Given the description of an element on the screen output the (x, y) to click on. 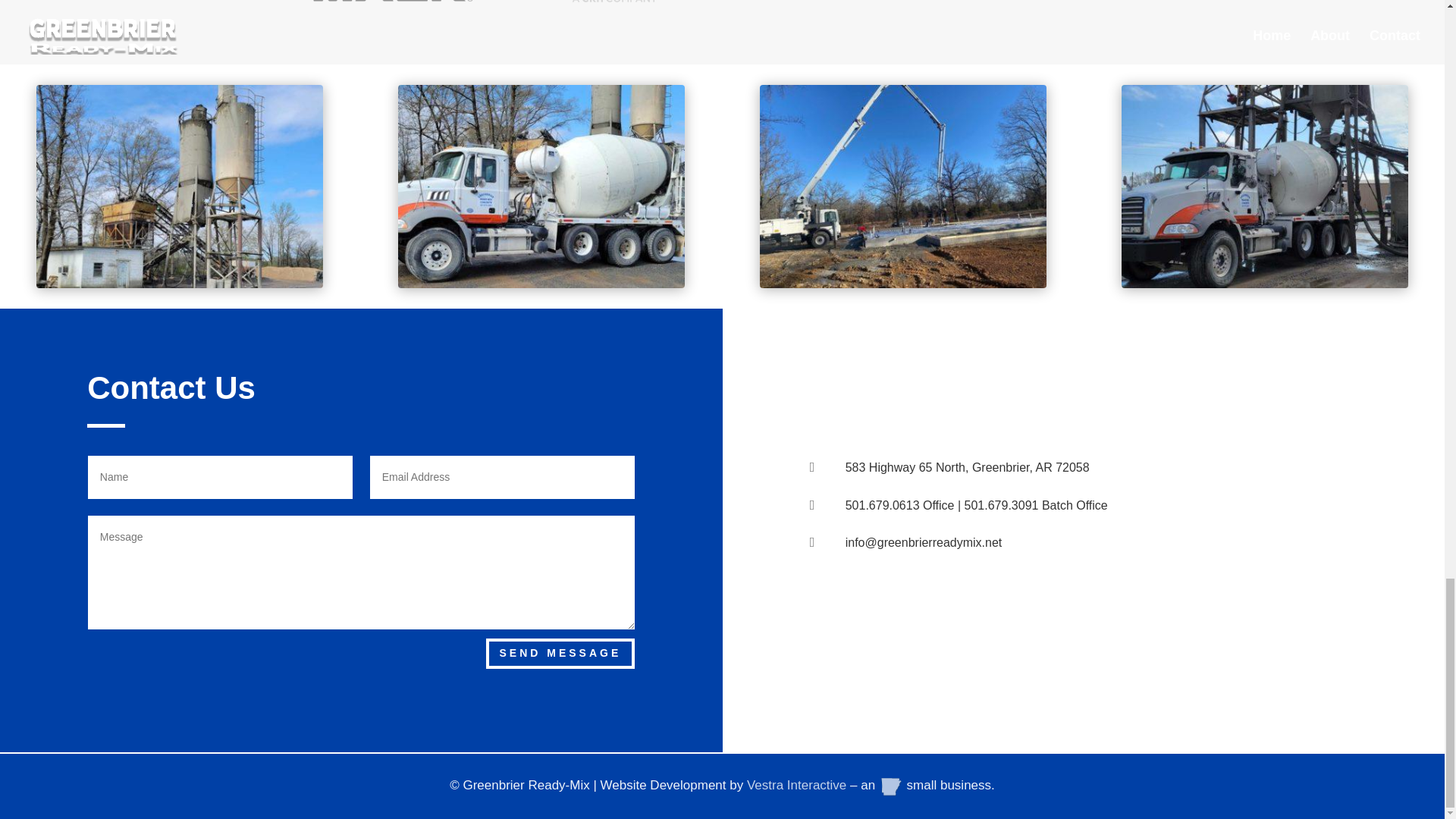
mack (398, 1)
Vestra Interactive (795, 785)
bumper-to-bumper-logo (1045, 1)
SEND MESSAGE (559, 653)
